Given the description of an element on the screen output the (x, y) to click on. 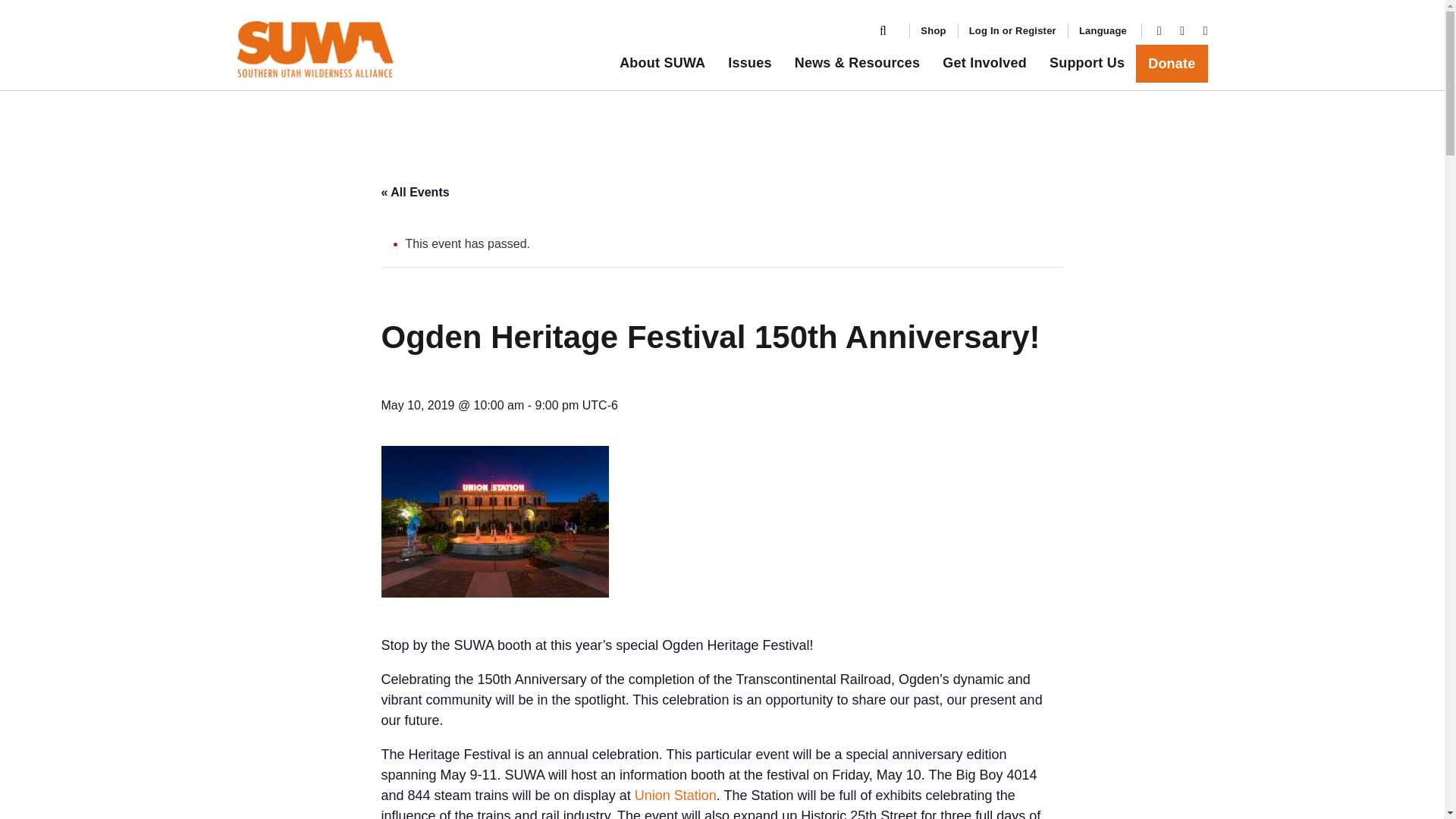
Support Us (1086, 63)
Search the site (882, 31)
Issues (749, 63)
Go to the SUWA Store (984, 63)
Search the site (1171, 63)
Southern Utah Wilderness Alliance (882, 30)
